Given the description of an element on the screen output the (x, y) to click on. 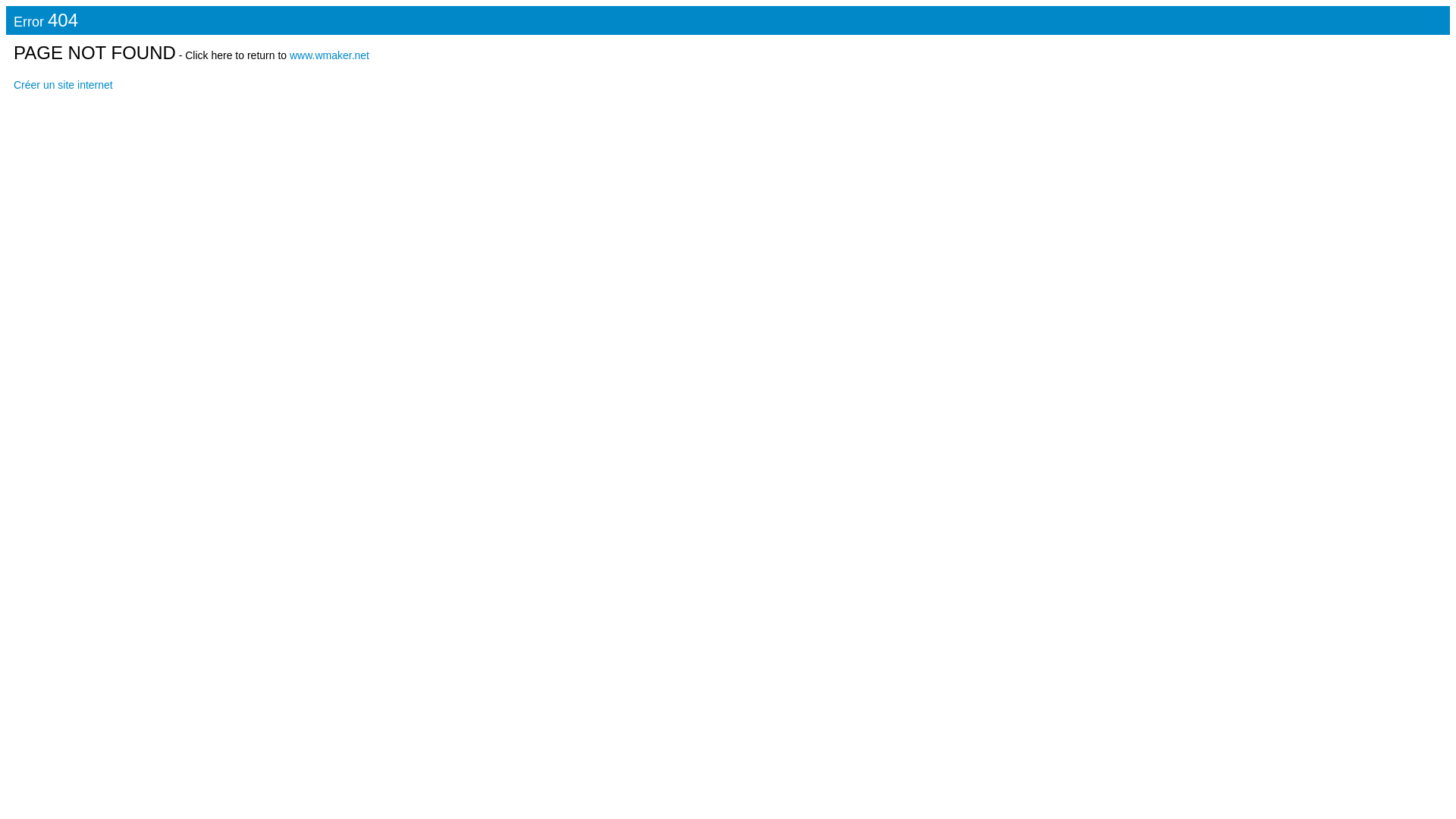
www.wmaker.net Element type: text (329, 55)
